Given the description of an element on the screen output the (x, y) to click on. 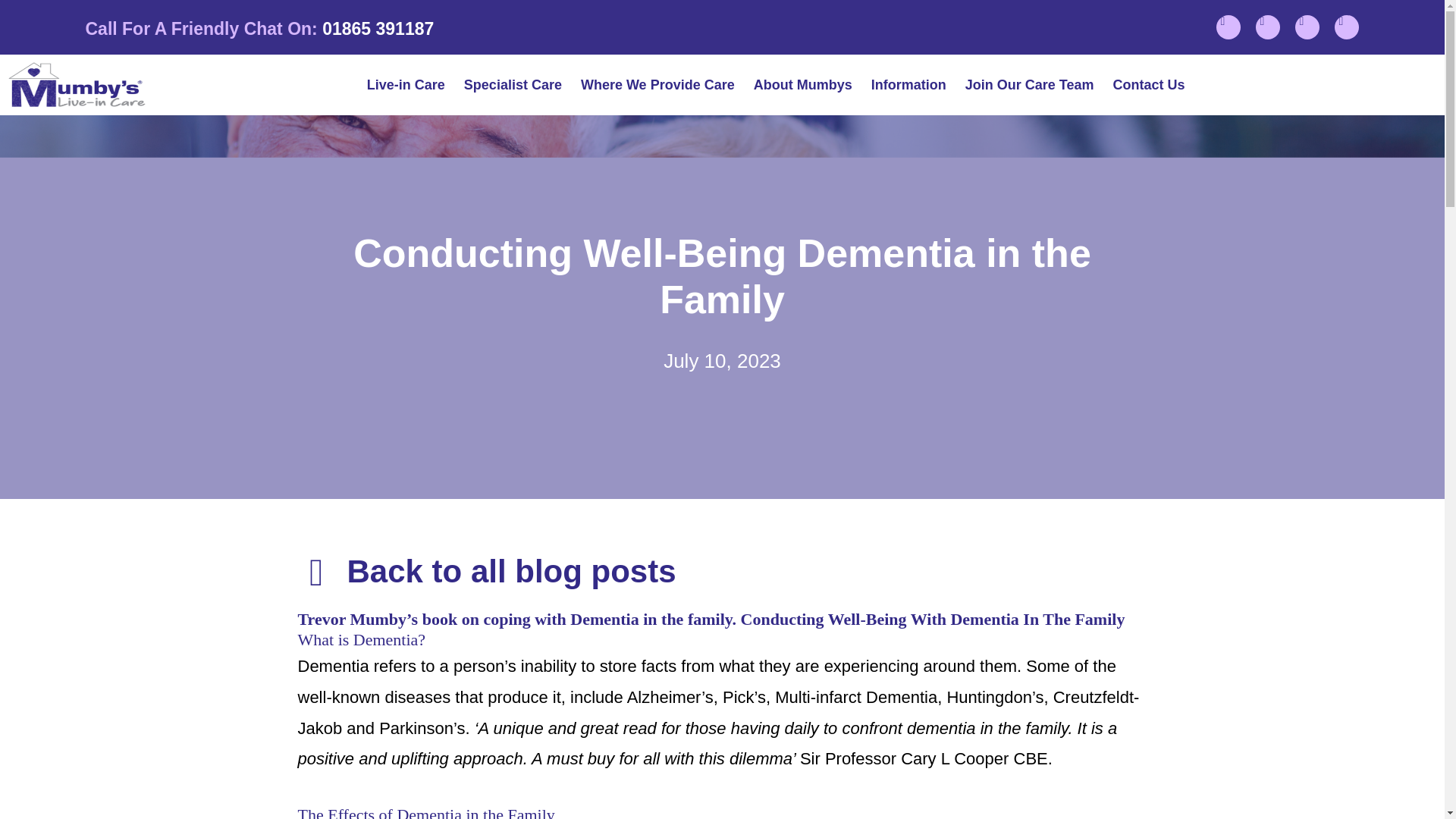
About Mumbys (802, 84)
Facebook-f (1227, 27)
Instagram (1267, 27)
01865 391187 (377, 28)
Youtube (1346, 27)
Live-in Care (406, 84)
Specialist Care (512, 84)
Where We Provide Care (657, 84)
Linkedin-in (1307, 27)
